Given the description of an element on the screen output the (x, y) to click on. 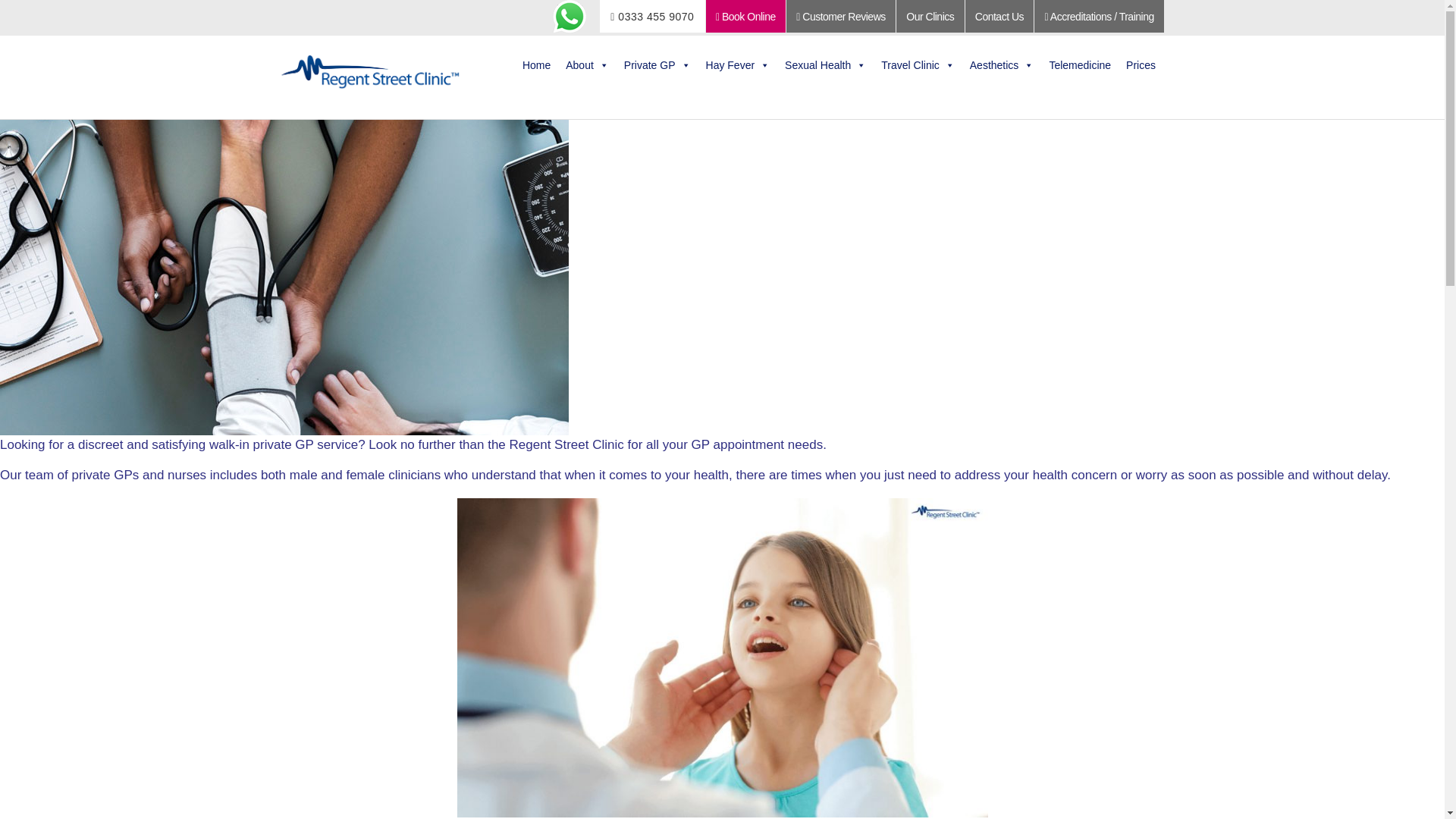
0333 455 9070 (651, 16)
Customer Reviews (840, 16)
Private GP (657, 64)
About (587, 64)
Book Online (746, 16)
Our Clinics (929, 16)
Home (536, 64)
Contact Us (999, 16)
